Given the description of an element on the screen output the (x, y) to click on. 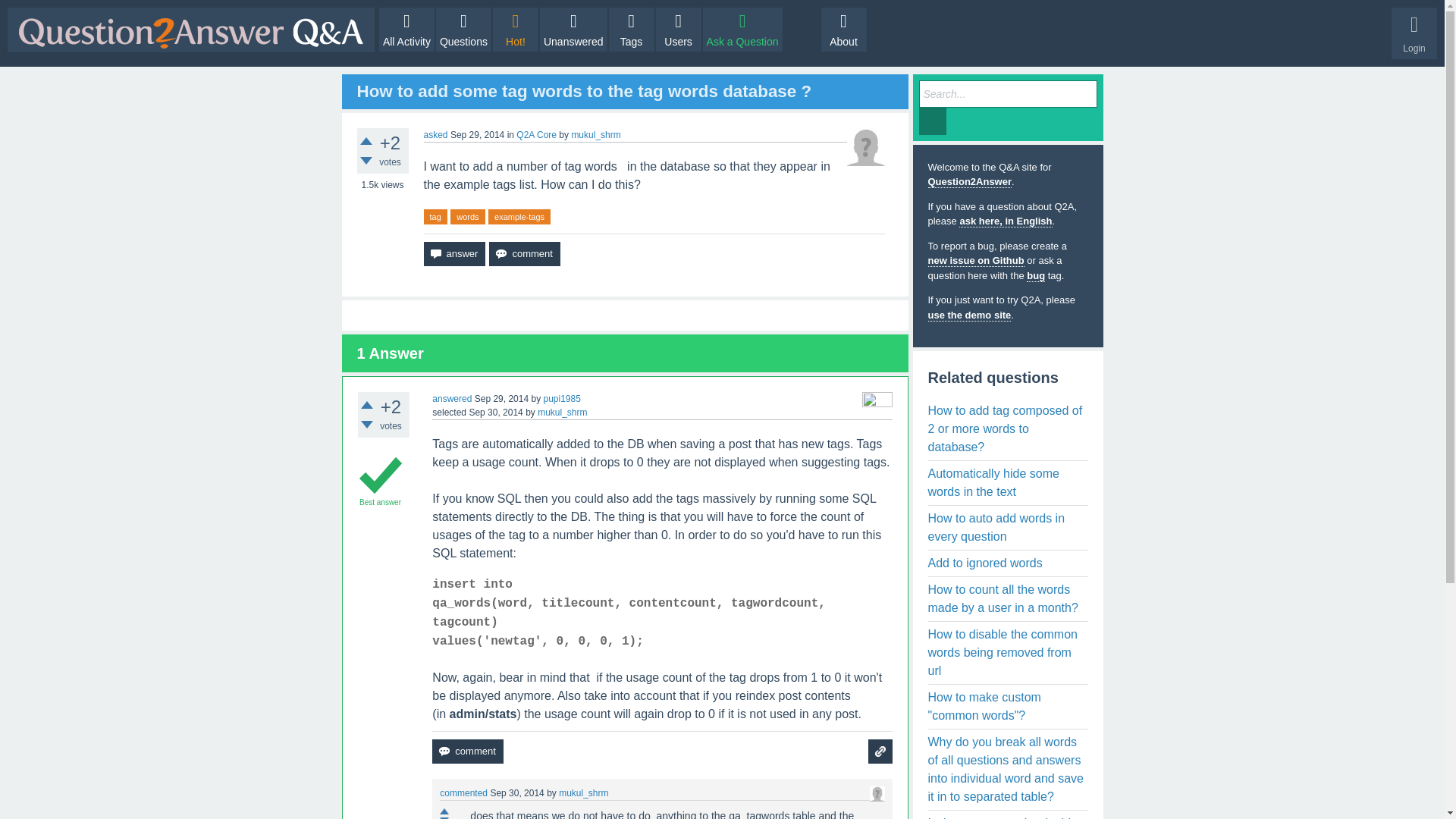
Unanswered (573, 29)
Search (932, 121)
Ask a new question relating to this answer (879, 751)
Click to vote up (366, 404)
Add a comment on this answer (467, 751)
tag (434, 217)
pupi1985 (561, 398)
All Activity (405, 29)
Hot! (515, 29)
Q2A Core (536, 134)
How to add some tag words to the tag words database ? (583, 90)
answered (451, 398)
Tags (630, 29)
comment (467, 751)
comment (524, 253)
